Given the description of an element on the screen output the (x, y) to click on. 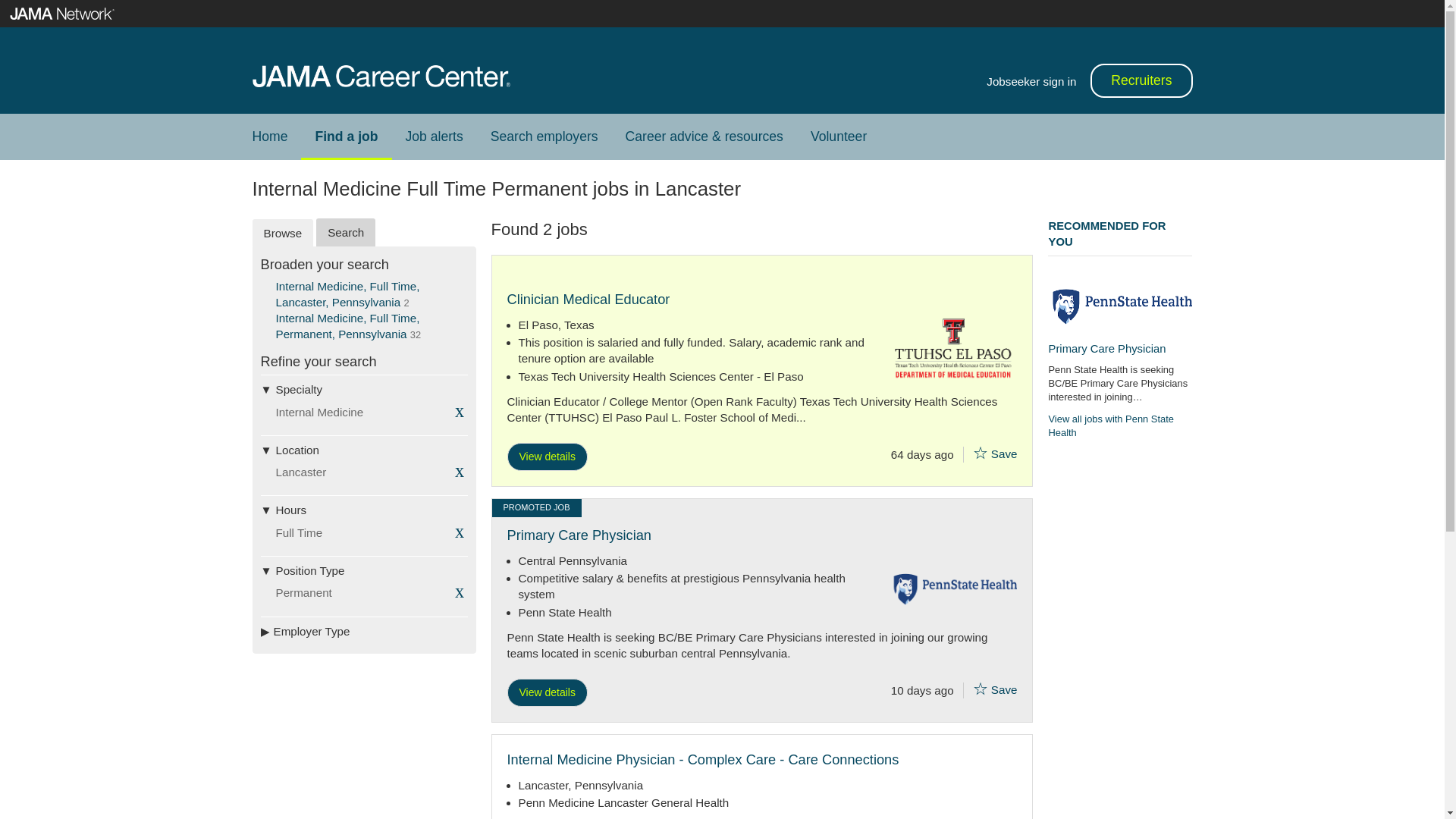
Add to shortlist (980, 452)
JAMA Career Center (380, 75)
Add to shortlist (980, 688)
